Given the description of an element on the screen output the (x, y) to click on. 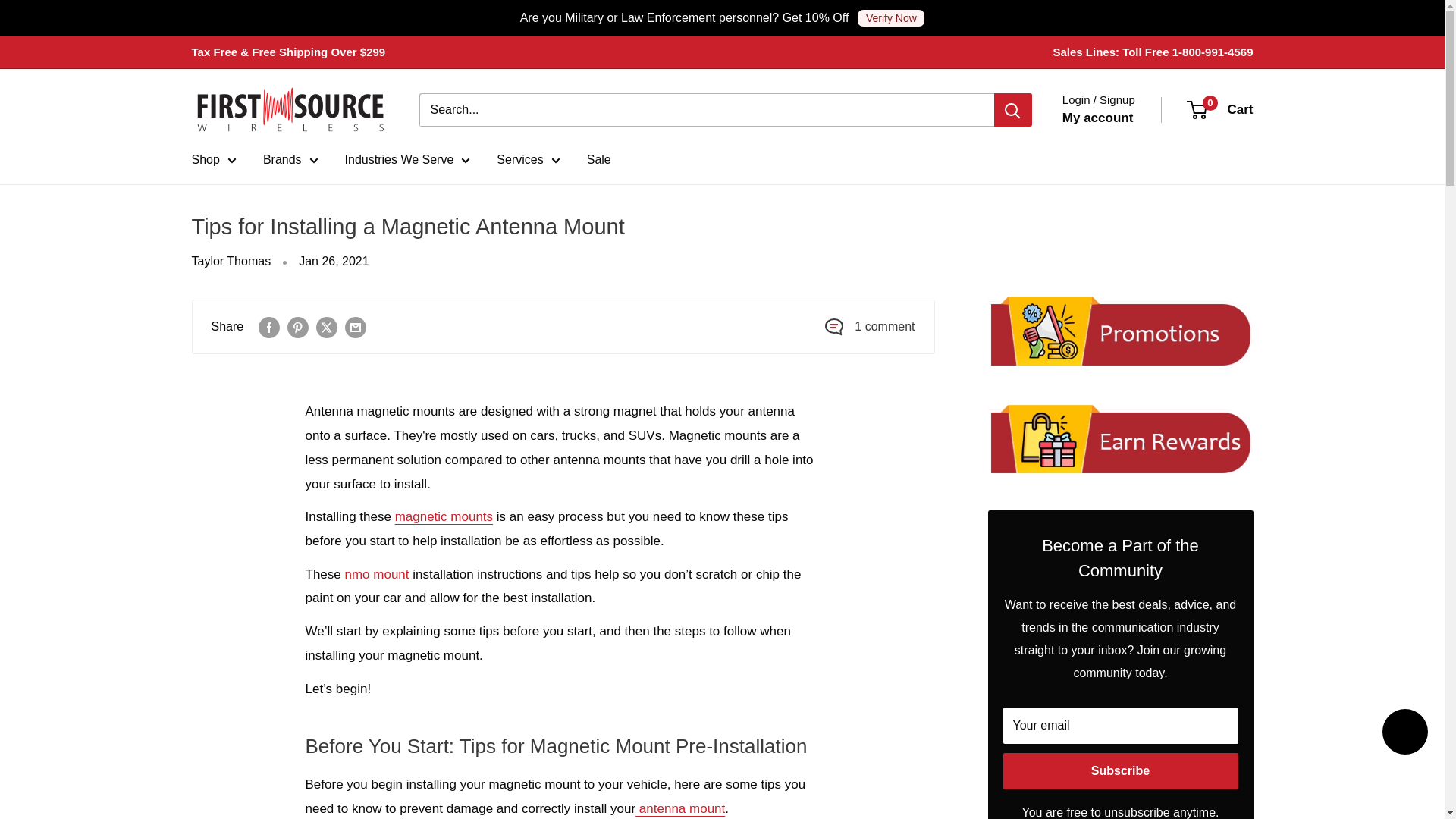
tel:800-991-4569 (1212, 51)
1-800-991-4569 (1212, 51)
antenna mount  (679, 808)
Shopify online store chat (1404, 733)
